Given the description of an element on the screen output the (x, y) to click on. 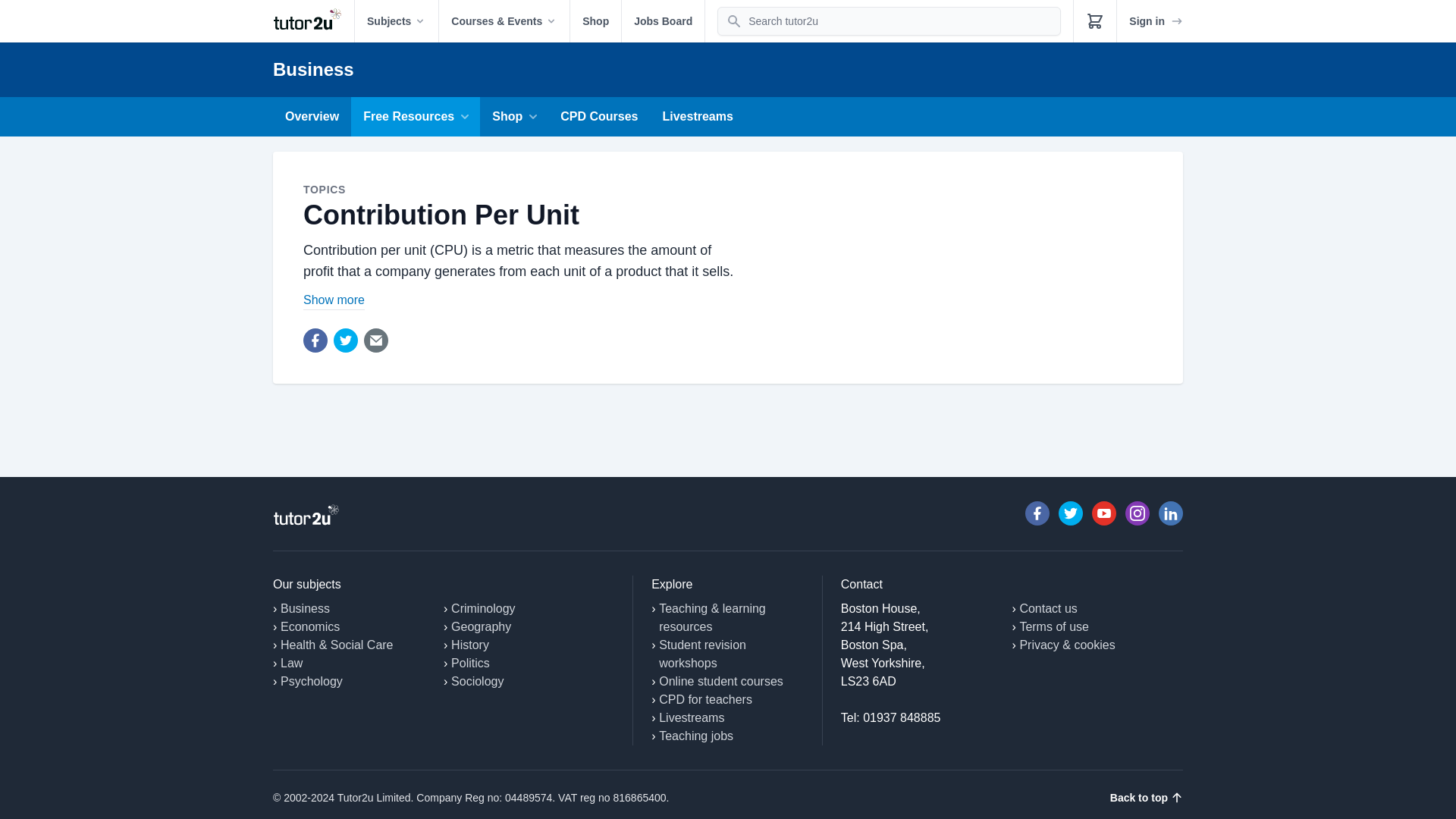
Free Resources (415, 116)
Sign in (1155, 21)
Subjects (395, 21)
Jobs Board (662, 21)
Overview (311, 116)
tutor2u (313, 21)
Business (313, 68)
Shop (595, 21)
